Given the description of an element on the screen output the (x, y) to click on. 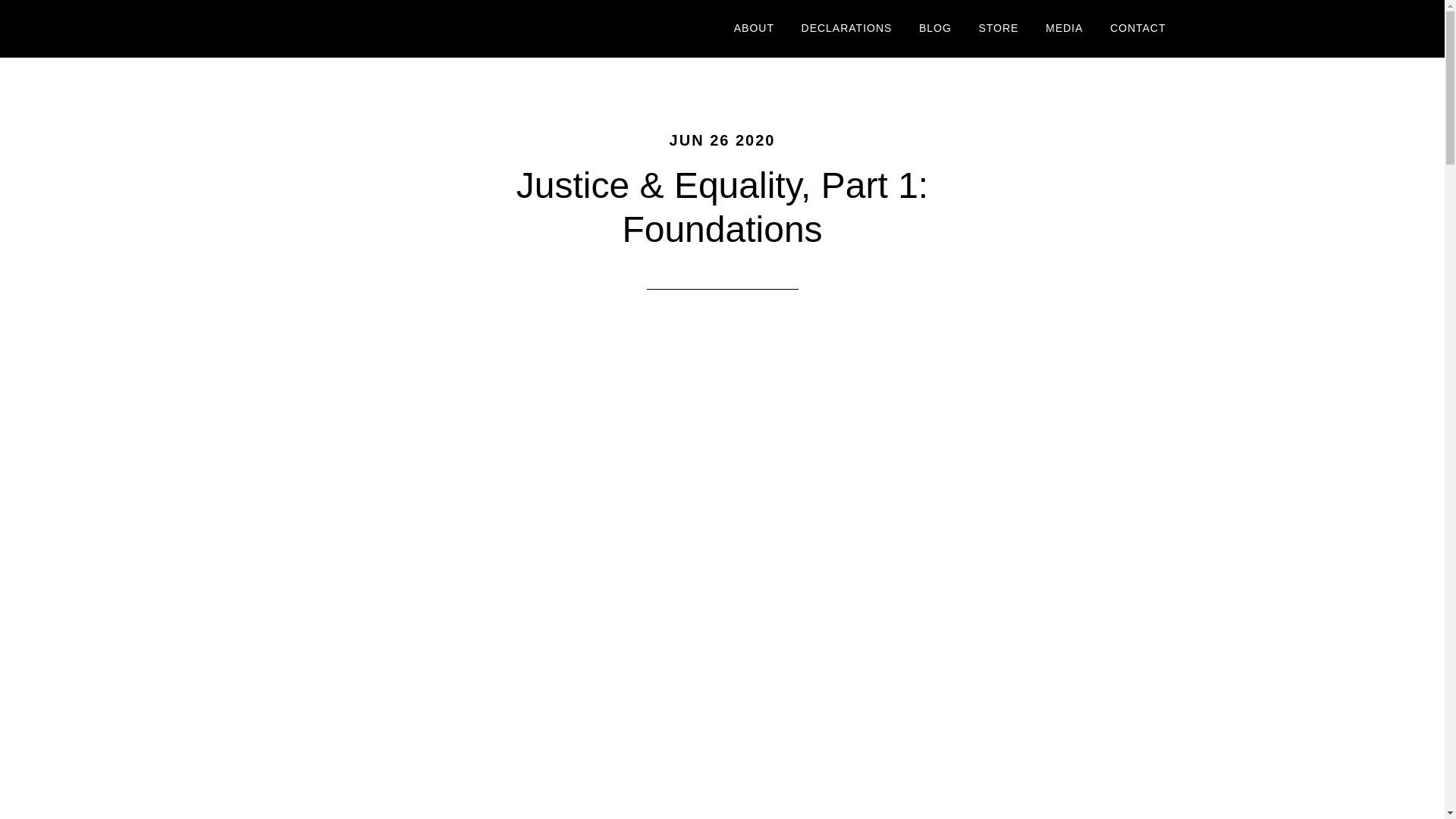
MEDIA (1063, 28)
DECLARATIONS (847, 28)
CHARLIE LEWIS (403, 28)
CONTACT (1138, 28)
STORE (997, 28)
ABOUT (754, 28)
BLOG (934, 28)
